Given the description of an element on the screen output the (x, y) to click on. 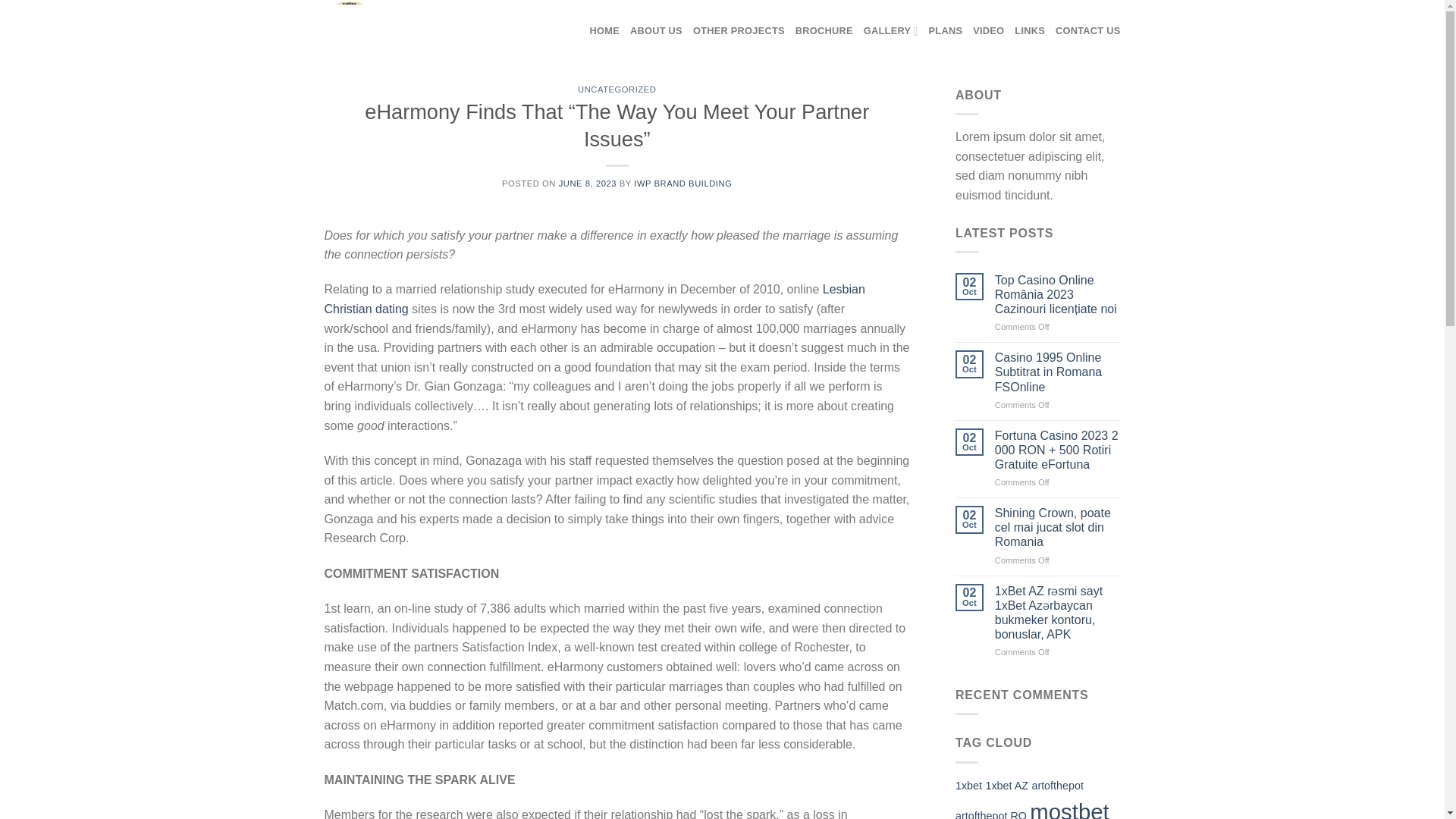
LINKS (1029, 30)
VIDEO (988, 30)
BROCHURE (823, 30)
HOME (604, 30)
OTHER PROJECTS (738, 30)
Lombardi Private Villas Resort (391, 31)
PLANS (945, 30)
UNCATEGORIZED (617, 89)
Casino 1995 Online Subtitrat in Romana FSOnline (1057, 371)
GALLERY (890, 30)
CONTACT US (1088, 30)
JUNE 8, 2023 (587, 183)
1xbet (968, 785)
ABOUT US (656, 30)
Casino 1995 Online Subtitrat in Romana FSOnline (1057, 371)
